Given the description of an element on the screen output the (x, y) to click on. 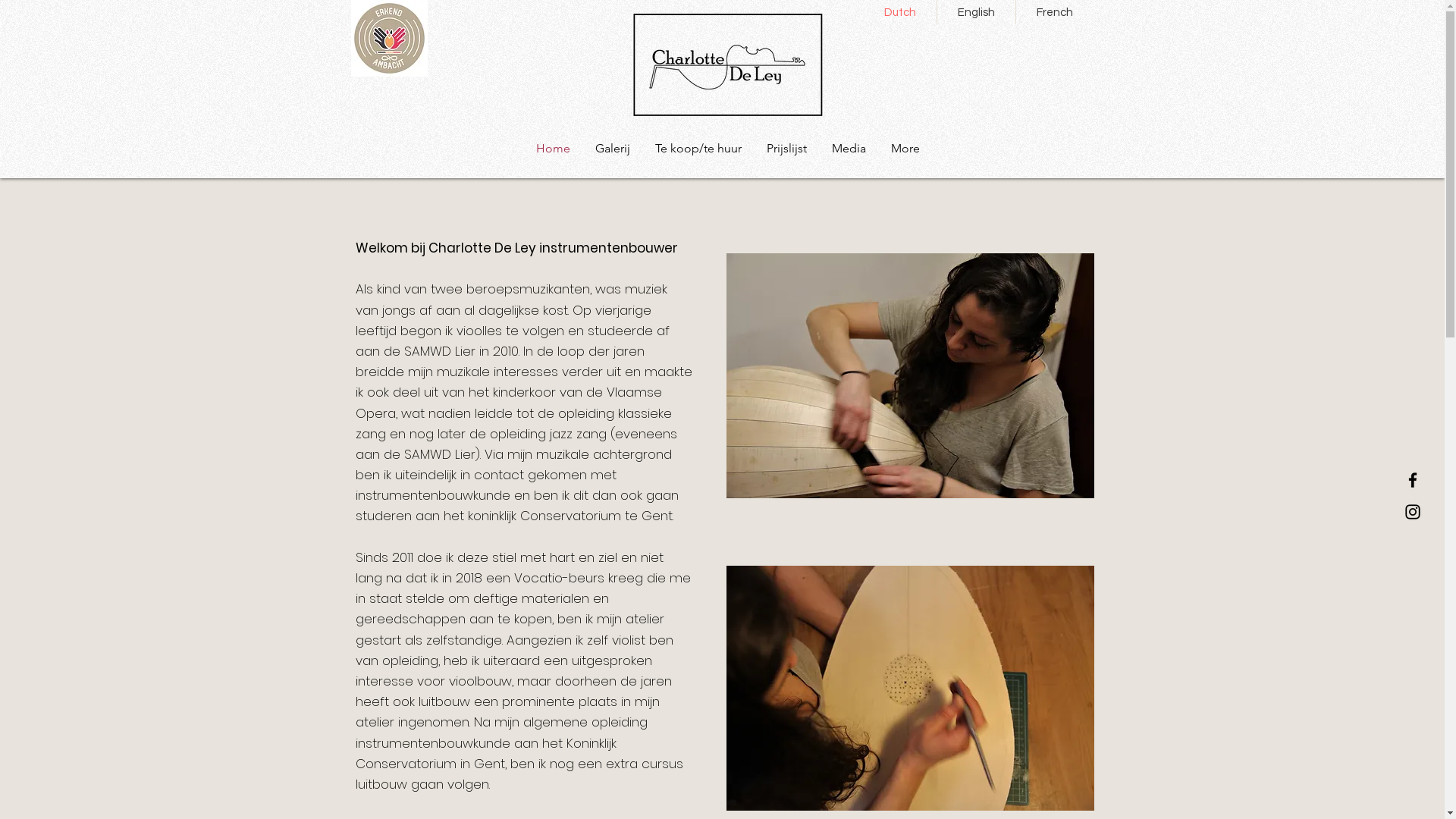
Te koop/te huur Element type: text (698, 148)
English Element type: text (975, 12)
Prijslijst Element type: text (786, 148)
Galerij Element type: text (612, 148)
Home Element type: text (552, 148)
Dutch Element type: text (898, 12)
Media Element type: text (848, 148)
French Element type: text (1054, 12)
De rozet wordt volledig met de hand gesneden. Element type: hover (910, 687)
